Given the description of an element on the screen output the (x, y) to click on. 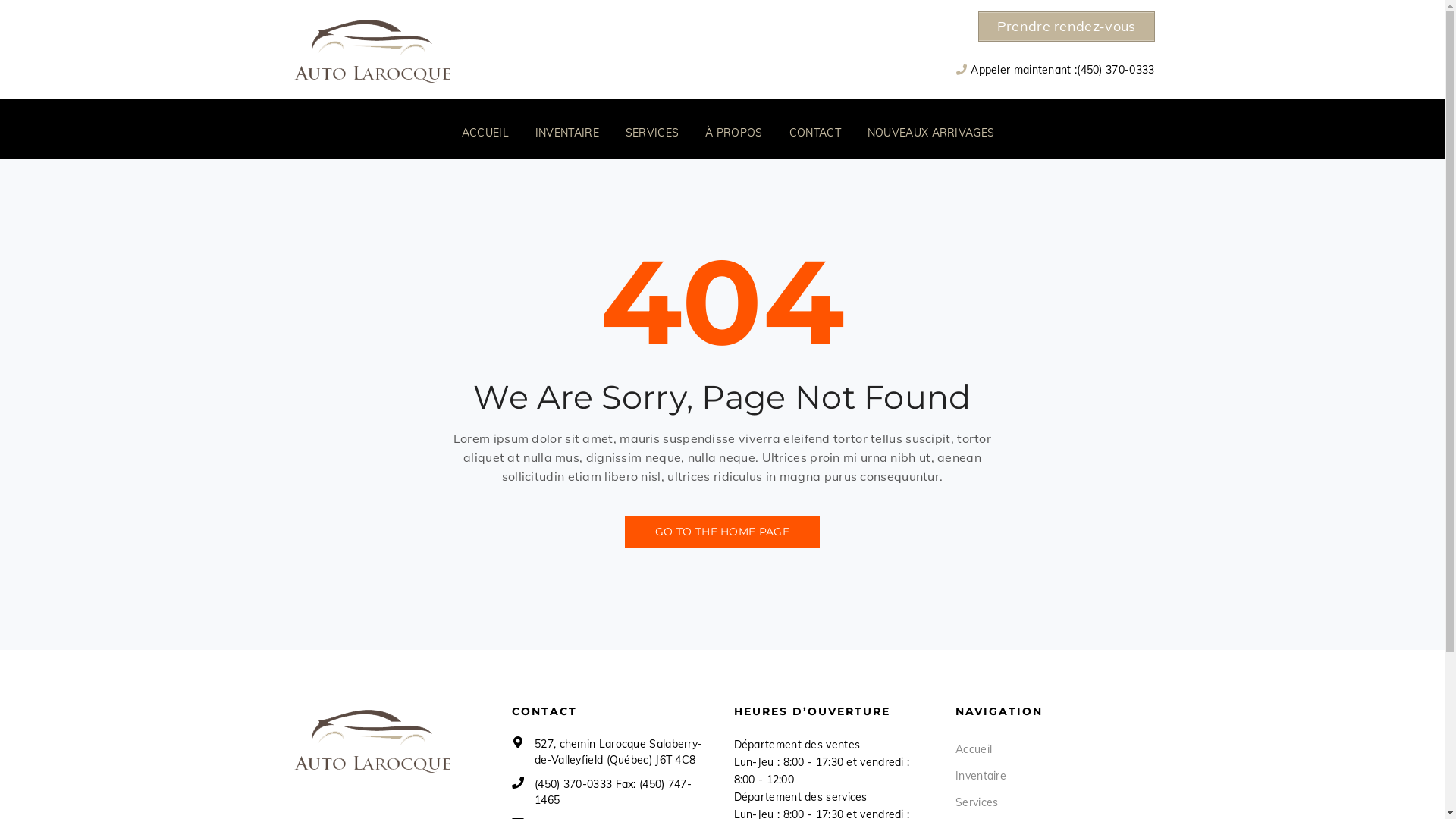
INVENTAIRE Element type: text (569, 134)
Accueil Element type: text (973, 749)
GO TO THE HOME PAGE Element type: text (721, 531)
CONTACT Element type: text (817, 134)
ACCUEIL Element type: text (487, 134)
Appeler maintenant :(450) 370-0333 Element type: text (1062, 69)
Prendre rendez-vous Element type: text (1066, 26)
SERVICES Element type: text (653, 134)
Services Element type: text (976, 802)
Inventaire Element type: text (980, 775)
NOUVEAUX ARRIVAGES Element type: text (925, 134)
